Given the description of an element on the screen output the (x, y) to click on. 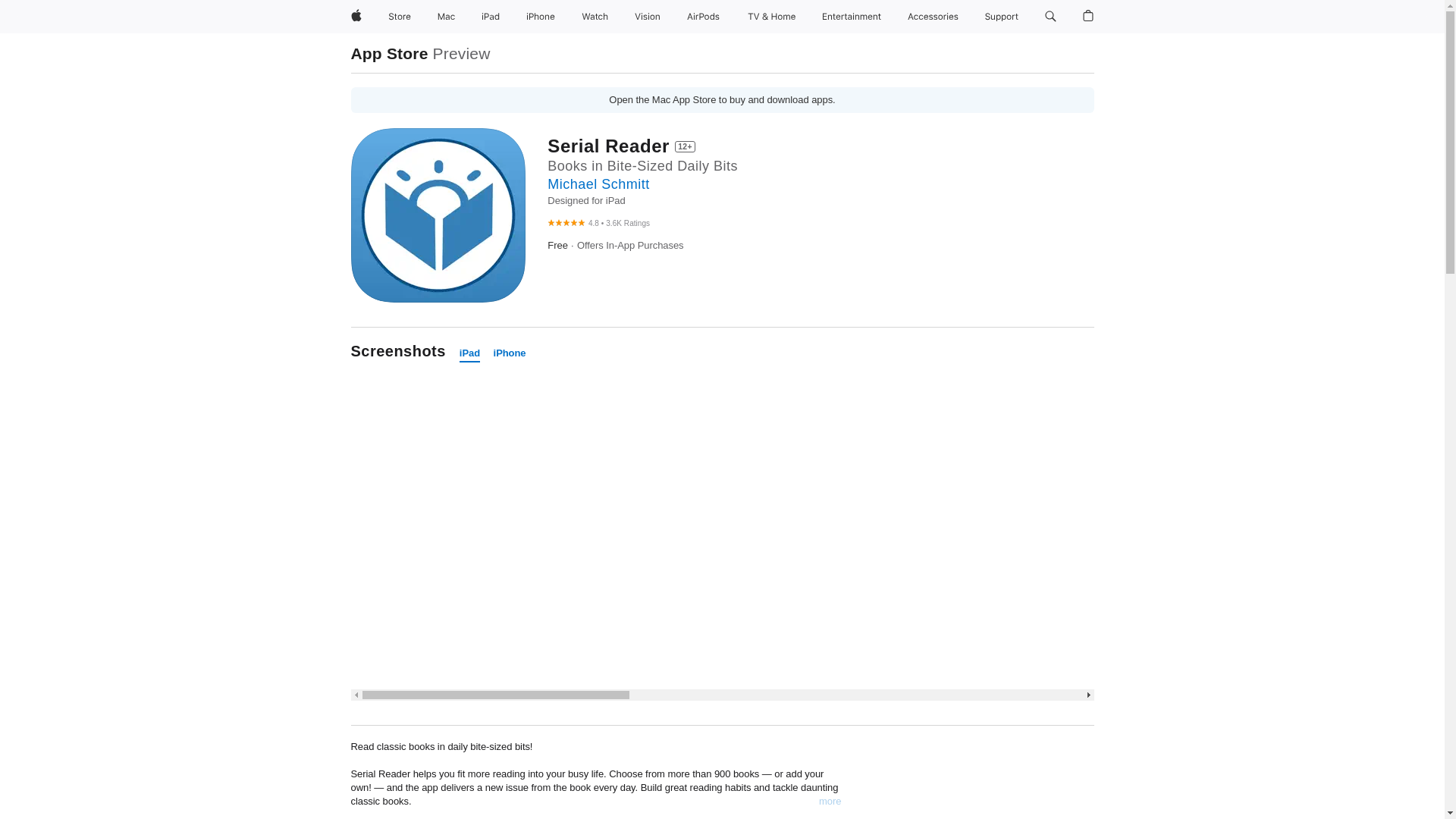
Accessories (932, 16)
Entertainment (851, 16)
Support (1001, 16)
AirPods (703, 16)
Watch (594, 16)
iPhone (539, 16)
iPad (490, 16)
iPad (470, 353)
more (829, 801)
Vision (647, 16)
Store (398, 16)
iPhone (509, 353)
App Store (389, 53)
Michael Schmitt (598, 183)
